Given the description of an element on the screen output the (x, y) to click on. 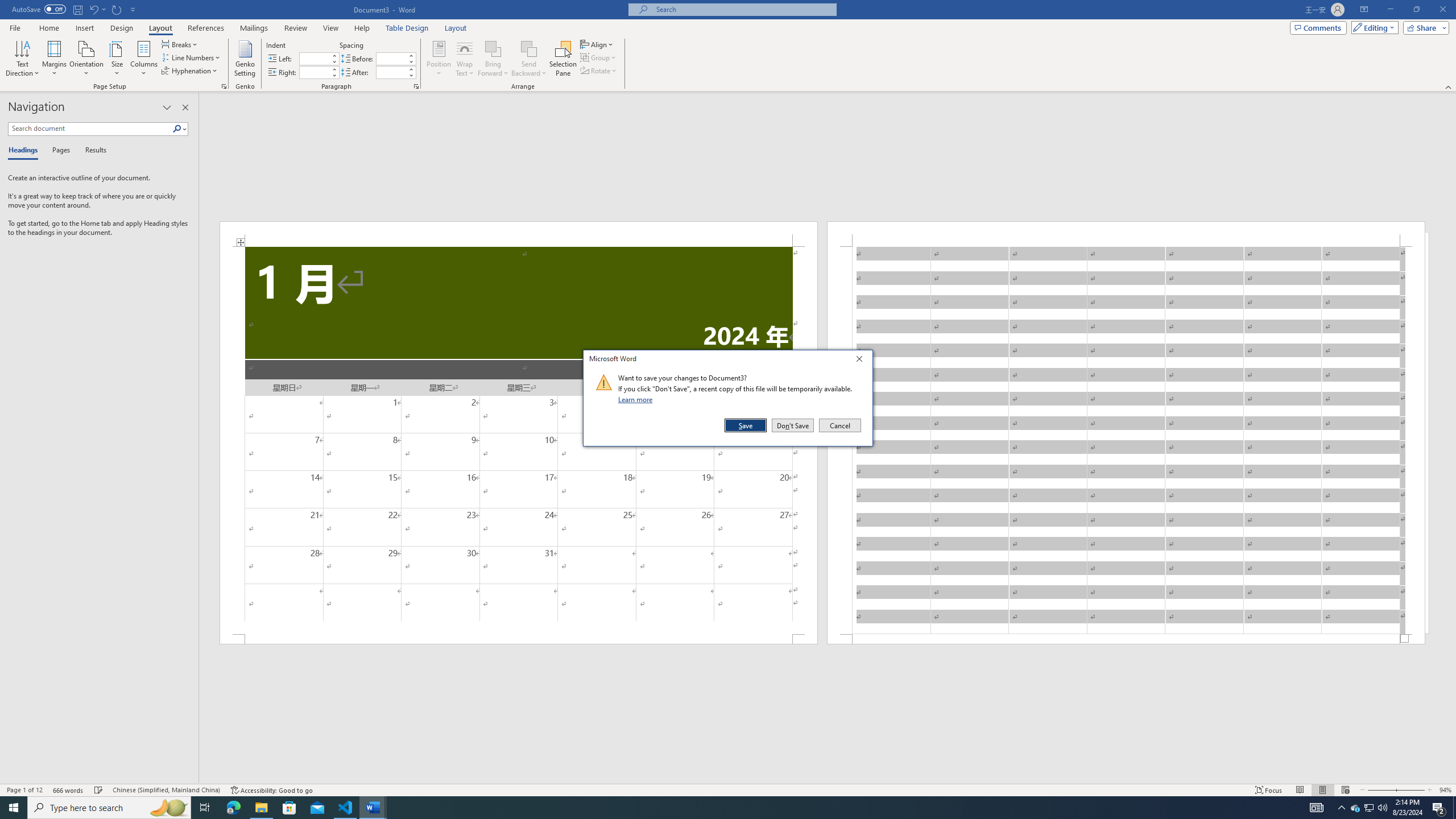
Text Direction (22, 58)
Line Numbers (191, 56)
Selection Pane... (563, 58)
Microsoft Edge (233, 807)
Group (599, 56)
Margins (54, 58)
